Given the description of an element on the screen output the (x, y) to click on. 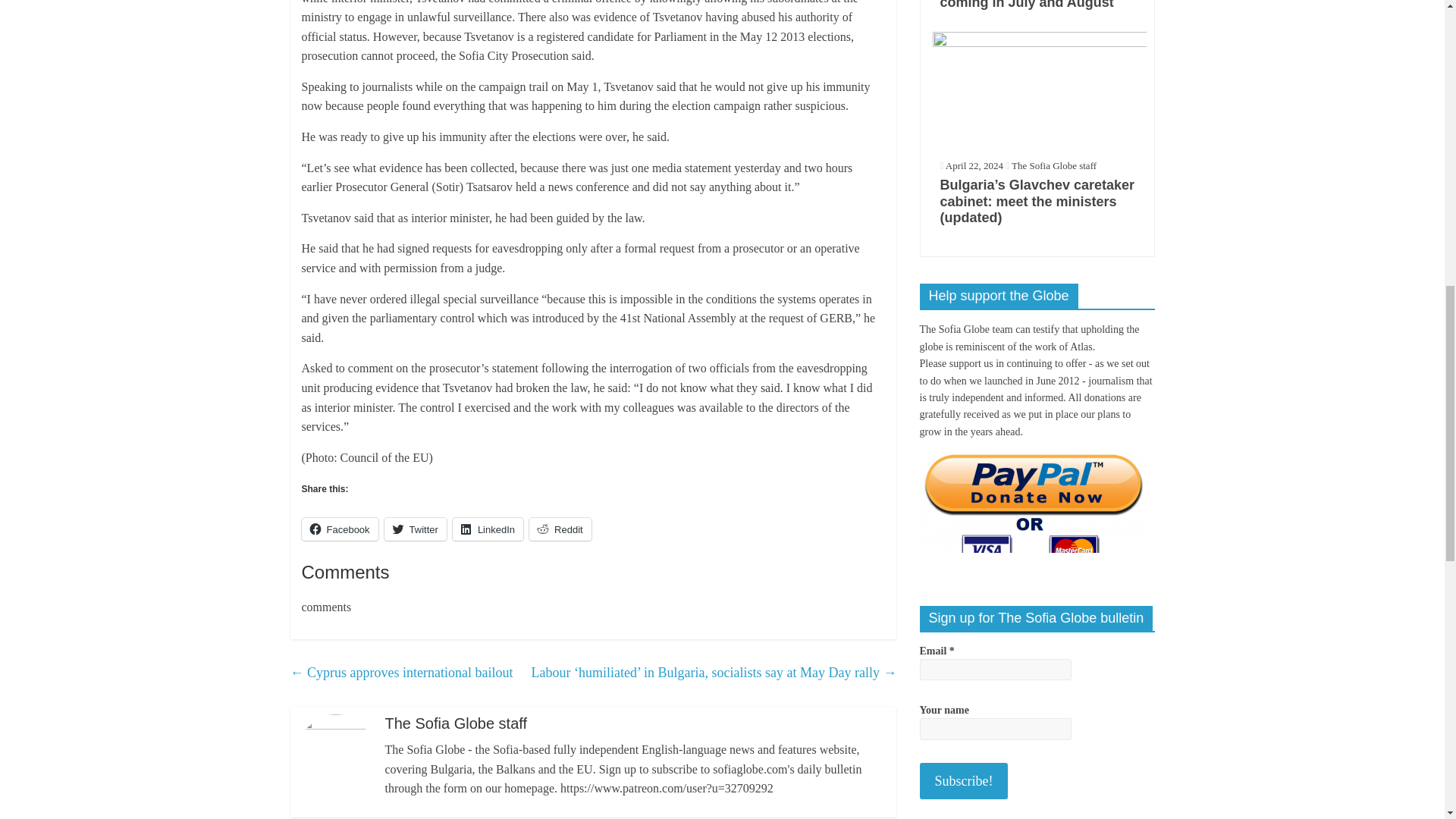
LinkedIn (487, 528)
Twitter (415, 528)
Facebook (339, 528)
Subscribe! (962, 781)
Click to share on LinkedIn (487, 528)
Reddit (560, 528)
Click to share on Twitter (415, 528)
Click to share on Facebook (339, 528)
Click to share on Reddit (560, 528)
